Given the description of an element on the screen output the (x, y) to click on. 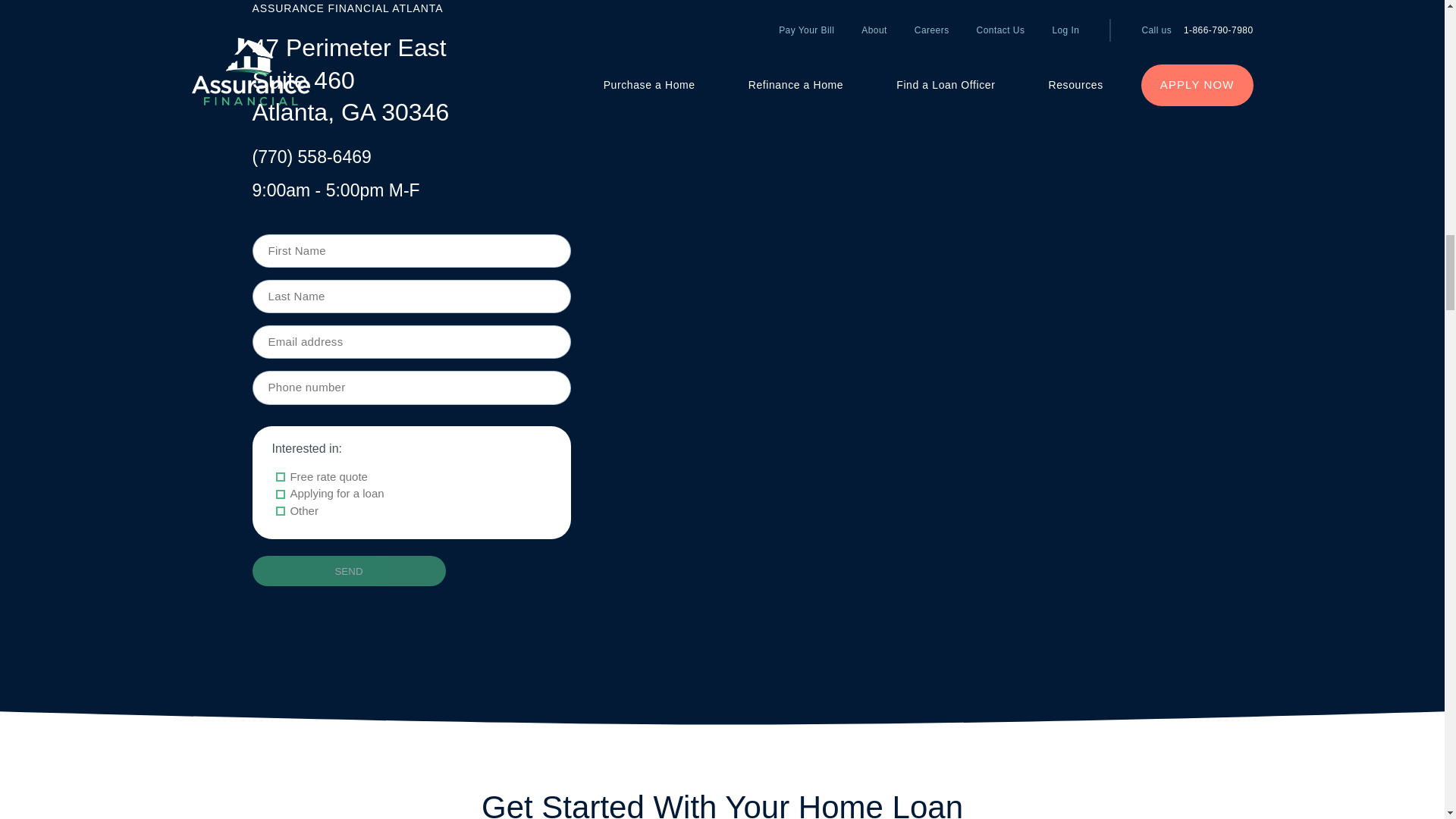
Free rate quote (280, 476)
Applying for a loan (280, 493)
Other (280, 510)
Send (348, 571)
